Given the description of an element on the screen output the (x, y) to click on. 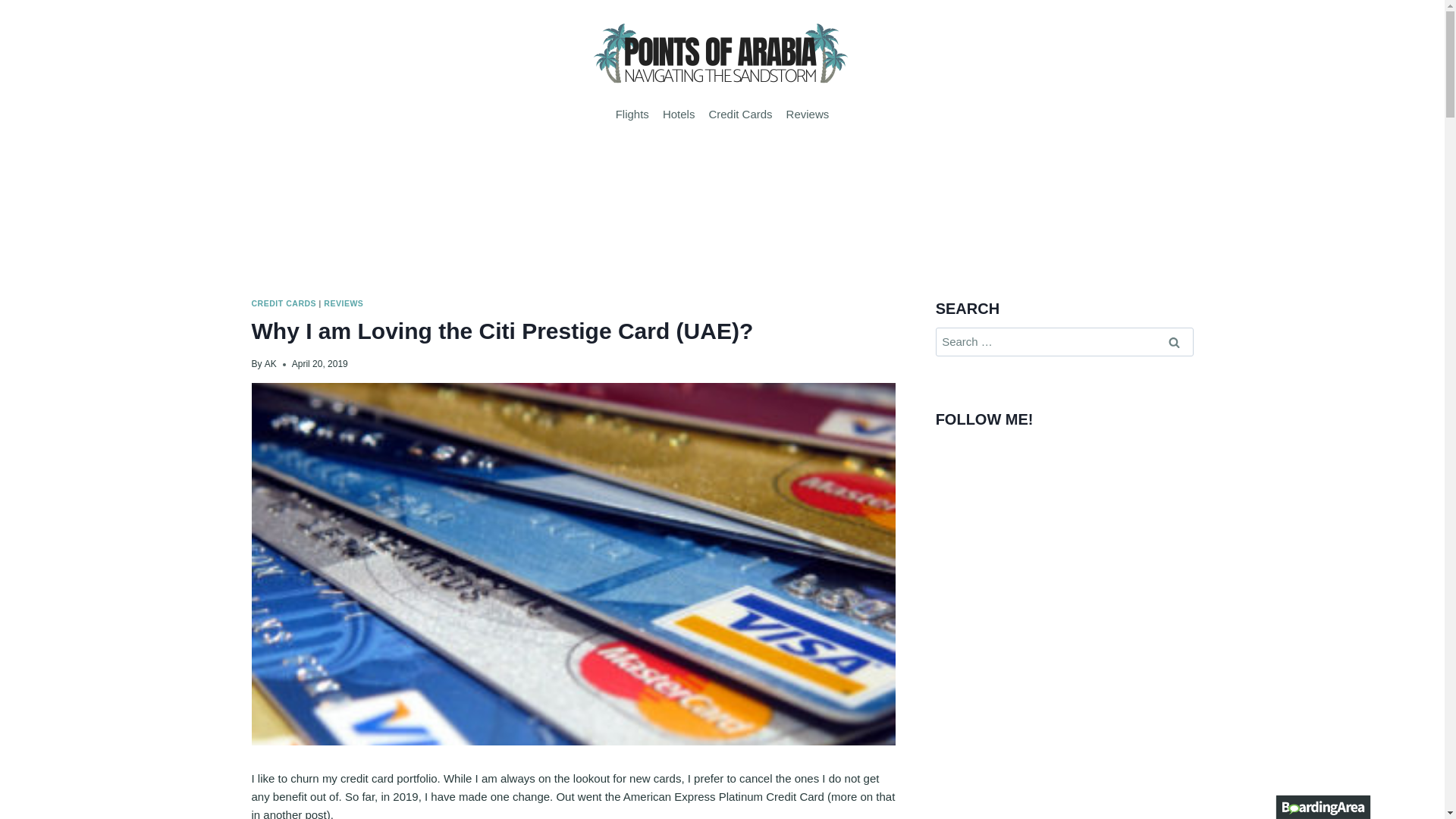
Reviews (806, 114)
CREDIT CARDS (284, 302)
Twitter (947, 450)
Hotels (678, 114)
REVIEWS (342, 302)
Email (974, 450)
Search (1174, 341)
Search (1174, 341)
Flights (632, 114)
AK (270, 363)
Search (1174, 341)
Credit Cards (739, 114)
